Given the description of an element on the screen output the (x, y) to click on. 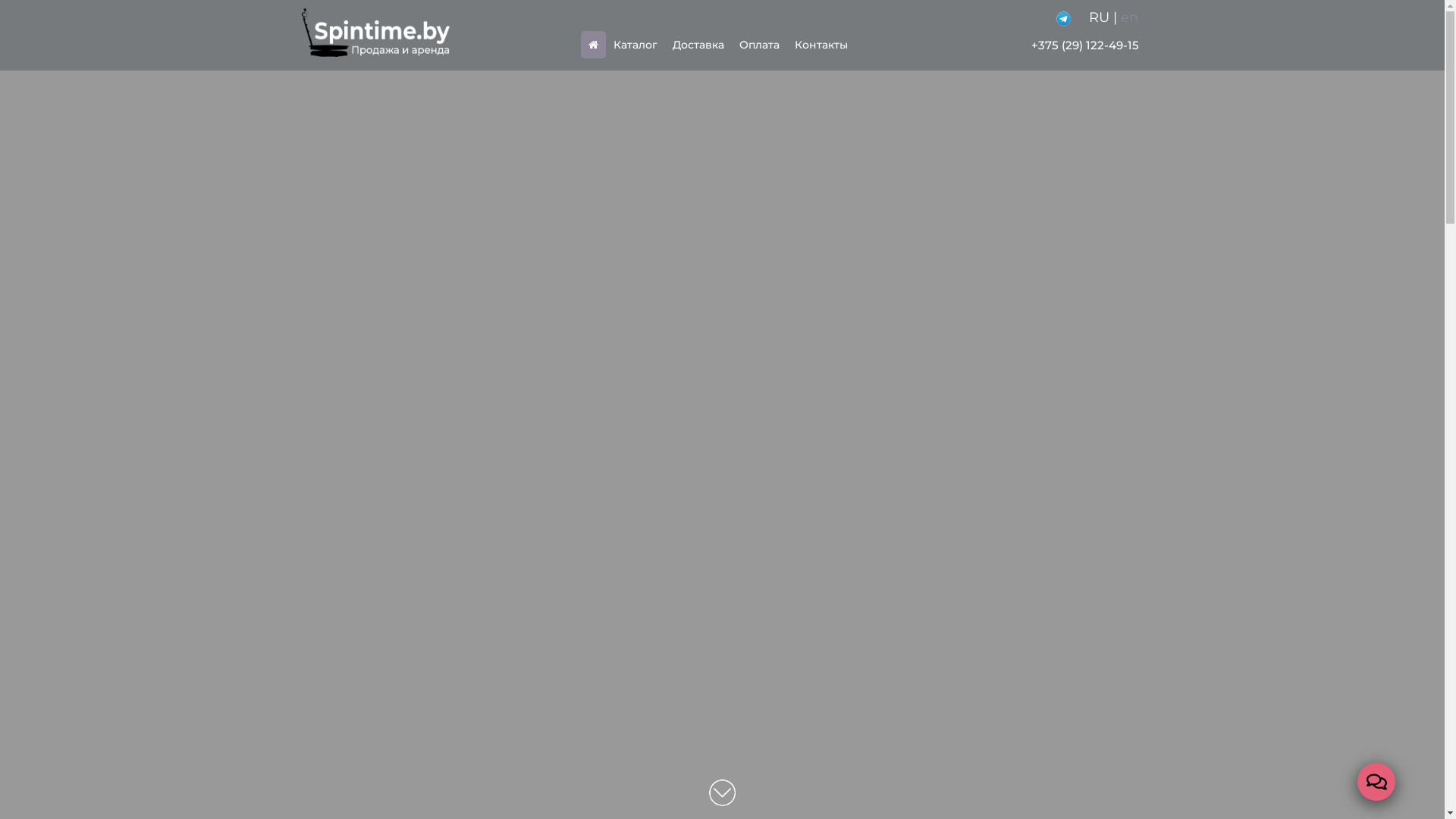
+375 (29) 122-49-15 Element type: text (1084, 45)
en Element type: text (1129, 17)
